Given the description of an element on the screen output the (x, y) to click on. 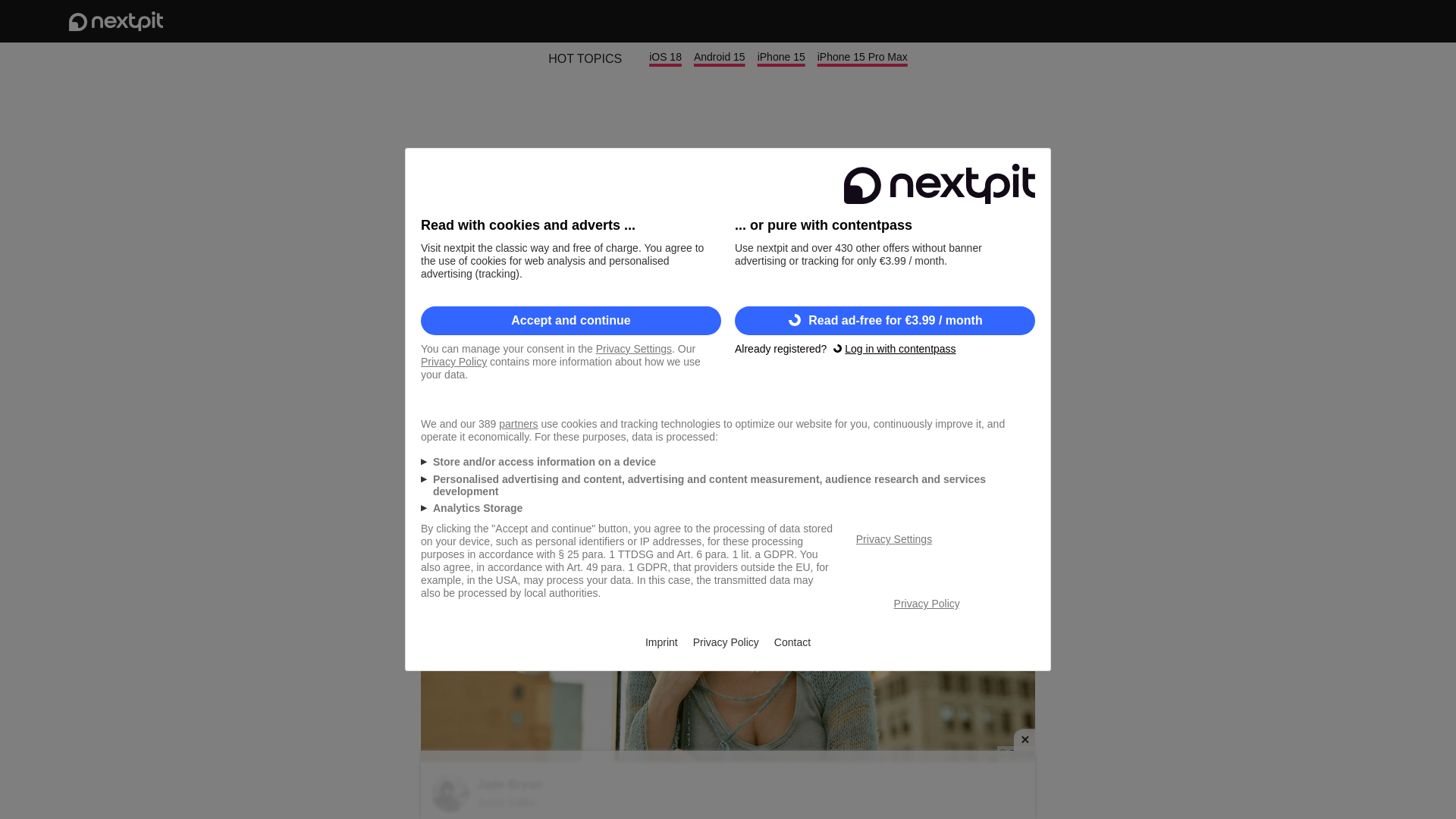
To the nextpit homepage (115, 21)
Login (1325, 21)
2 min read (452, 396)
Feb 18, 2024, 7:00:00 PM (981, 397)
